Given the description of an element on the screen output the (x, y) to click on. 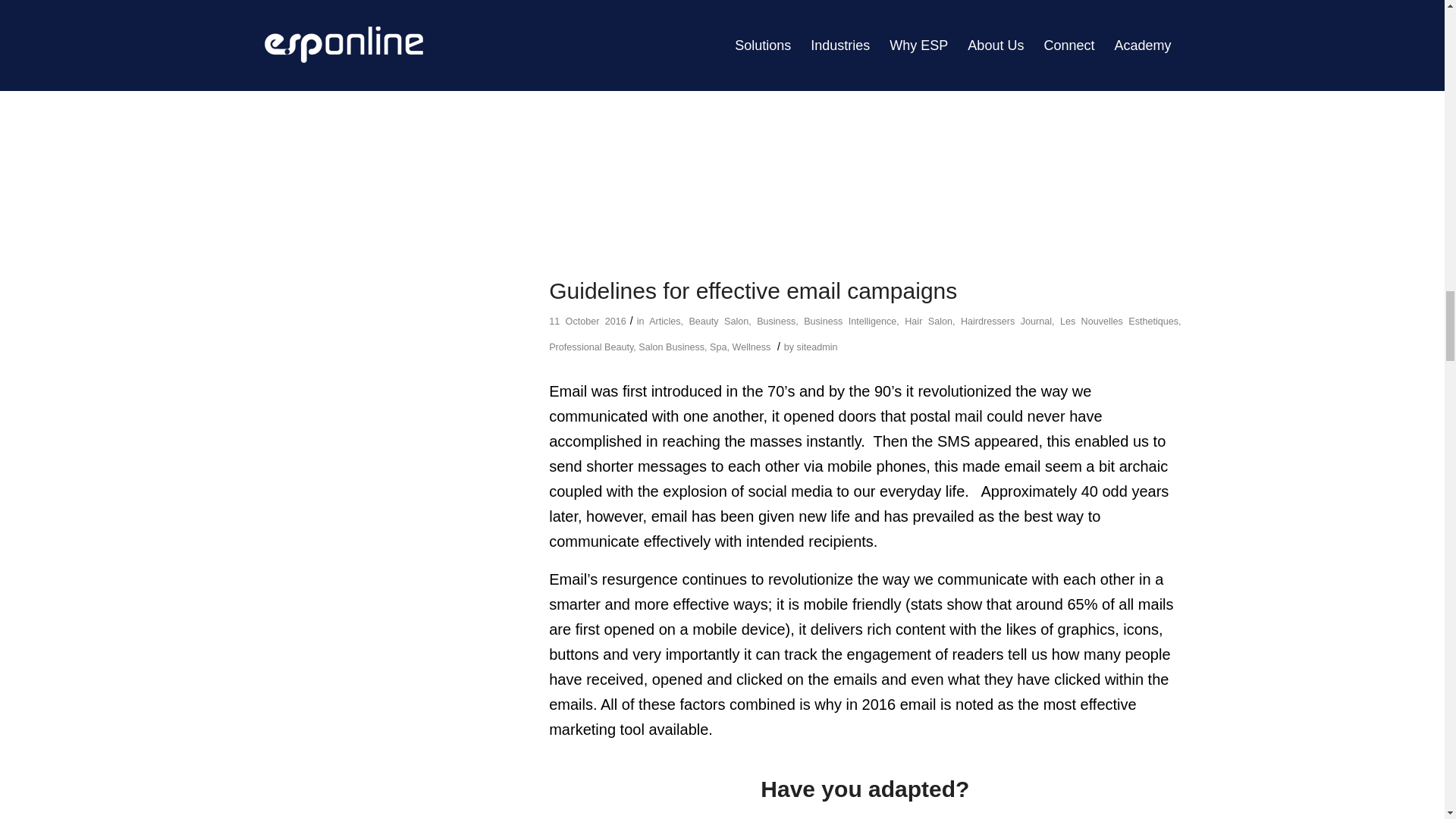
Guidelines for effective email campaigns (752, 290)
Business (775, 321)
Les Nouvelles Esthetiques (1118, 321)
Hairdressers Journal (1005, 321)
Salon Business (671, 347)
siteadmin (817, 347)
Permanent Link: Guidelines for effective email campaigns (752, 290)
Beauty Salon (718, 321)
Business Intelligence (849, 321)
Professional Beauty (590, 347)
Articles (664, 321)
Wellness (751, 347)
Hair Salon (928, 321)
Posts by siteadmin (817, 347)
Spa (718, 347)
